Given the description of an element on the screen output the (x, y) to click on. 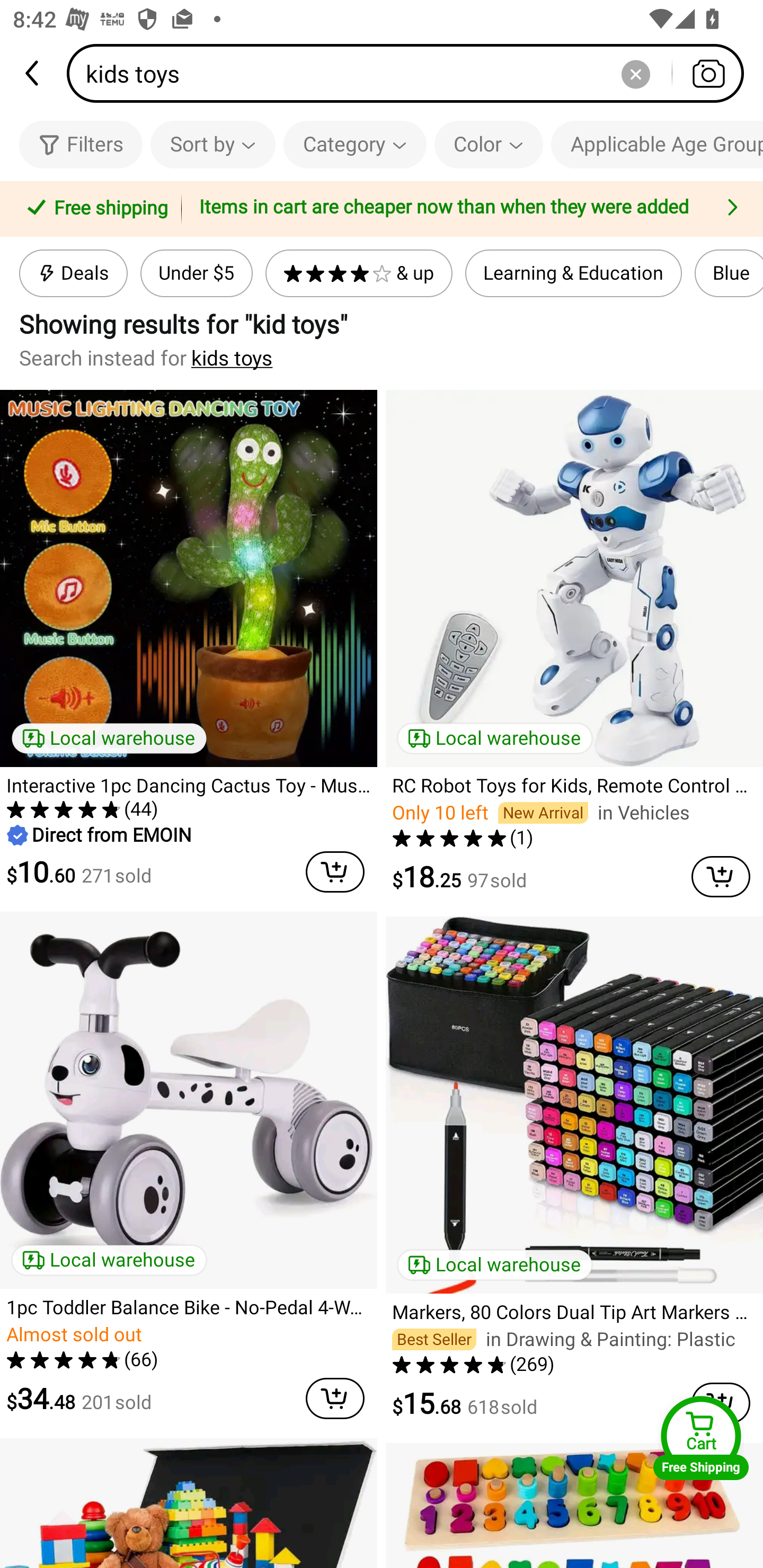
back (33, 72)
kids toys (411, 73)
Delete search history (635, 73)
Search by photo (708, 73)
Filters (80, 143)
Sort by (212, 143)
Category (354, 143)
Color (488, 143)
Applicable Age Group (656, 143)
 Free shipping (93, 208)
Deals (73, 273)
Under $5 (196, 273)
& up (358, 273)
Learning & Education (573, 273)
Blue (728, 273)
kids toys (232, 358)
Cart Free Shipping Cart (701, 1437)
